Given the description of an element on the screen output the (x, y) to click on. 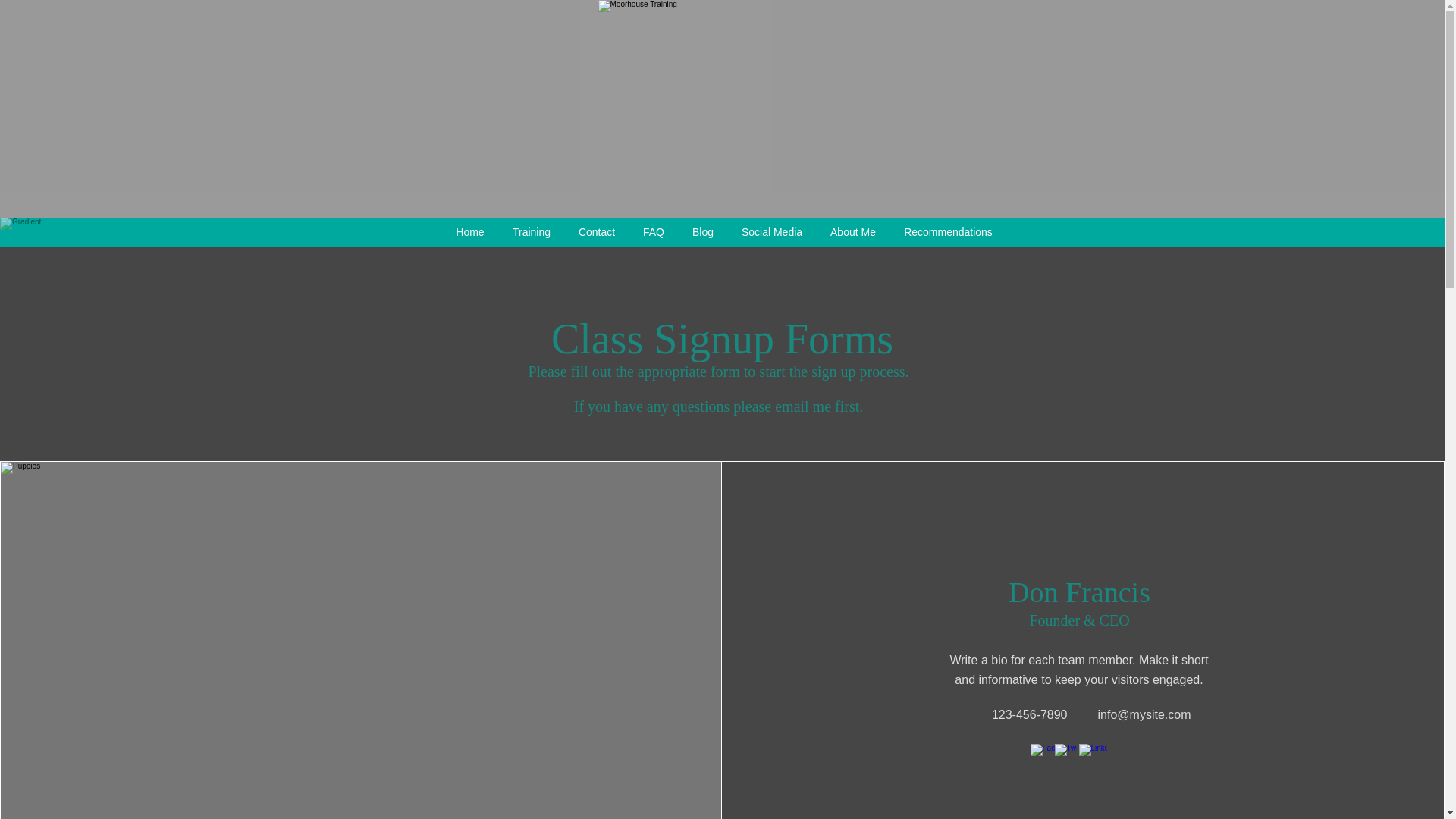
Contact (596, 232)
FAQ (653, 232)
Training (531, 232)
Home (469, 232)
Recommendations (948, 232)
Social Media (772, 232)
About Me (852, 232)
Blog (702, 232)
